Given the description of an element on the screen output the (x, y) to click on. 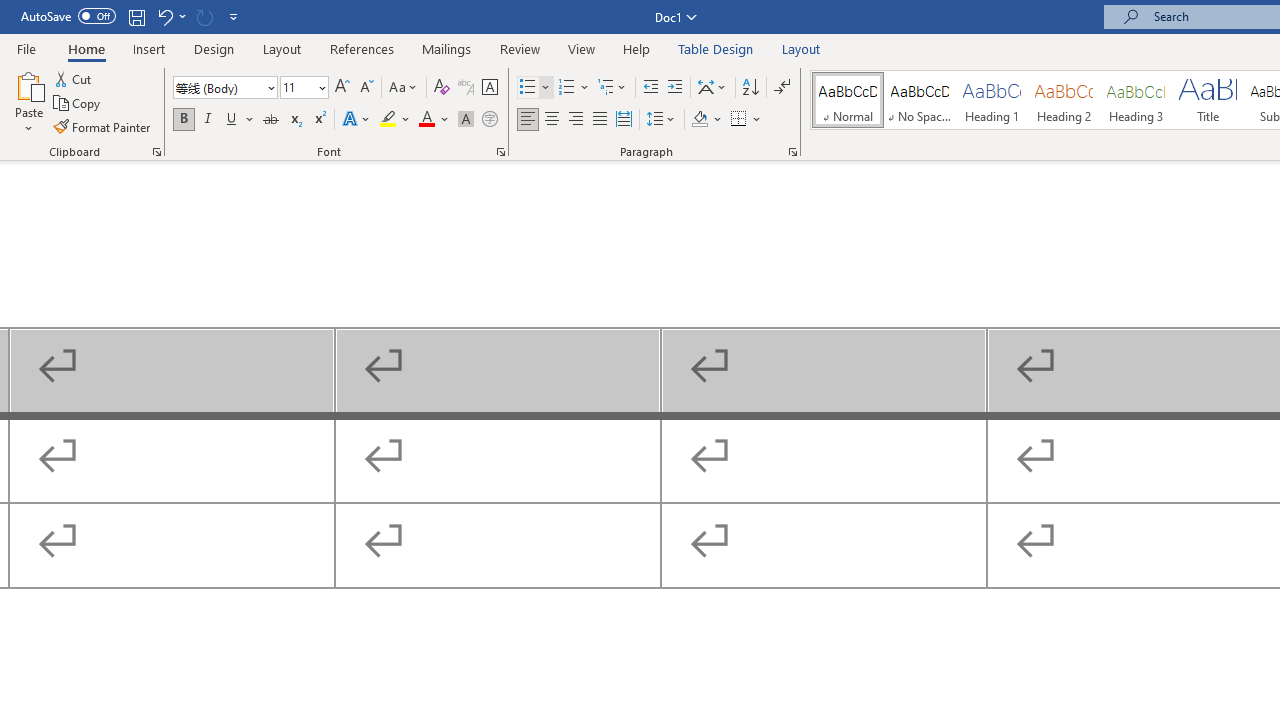
Undo Outline Move Up (164, 15)
